Given the description of an element on the screen output the (x, y) to click on. 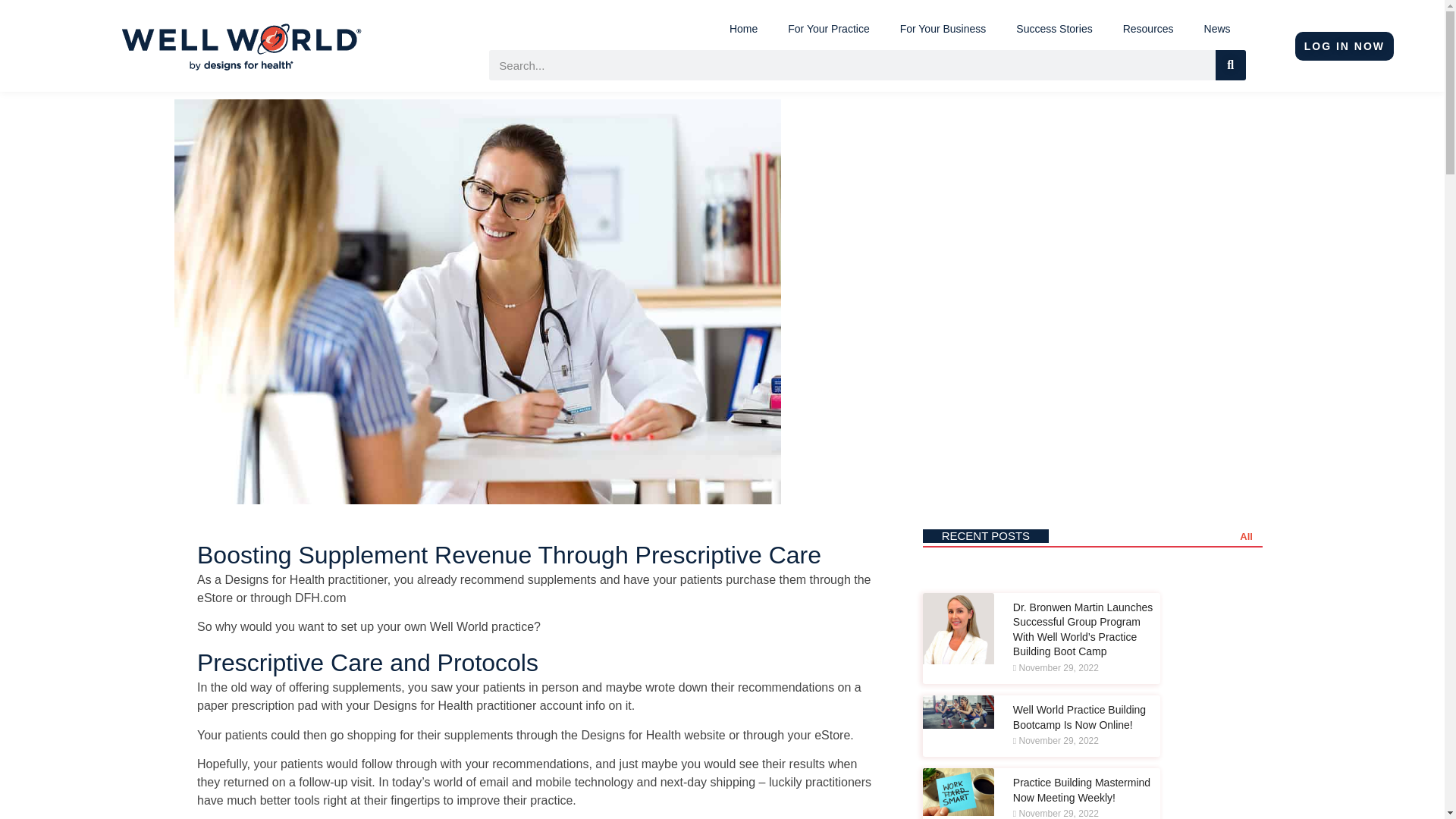
Resources (1148, 28)
Home (743, 28)
All (1245, 536)
Well World Practice Building Bootcamp Is Now Online! (1079, 717)
Practice Building Mastermind Now Meeting Weekly! (1081, 789)
For Your Practice (828, 28)
LOG IN NOW (1344, 45)
News (1217, 28)
For Your Business (943, 28)
Success Stories (1053, 28)
